Given the description of an element on the screen output the (x, y) to click on. 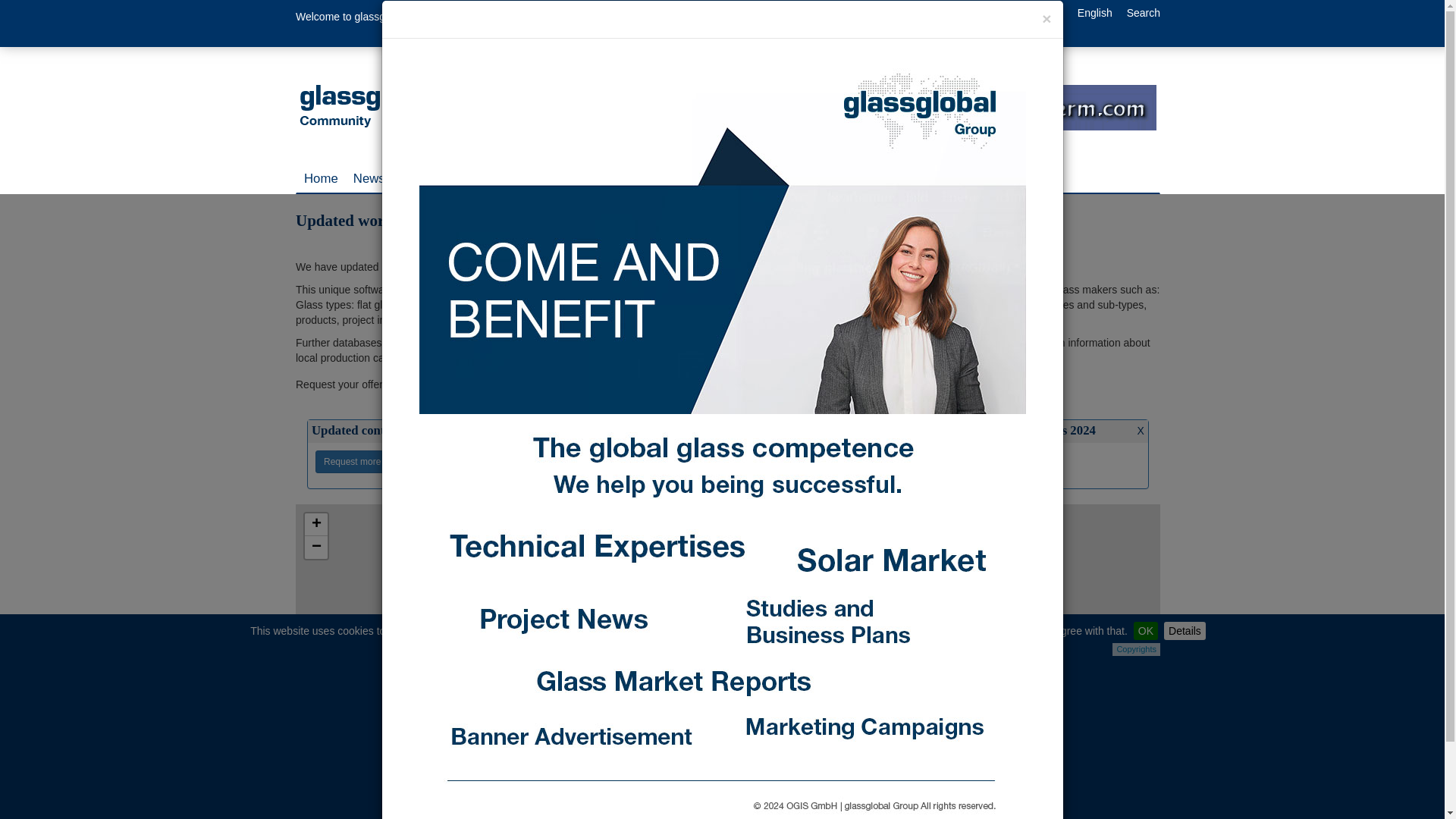
Technology (432, 178)
Search (1143, 12)
English (1094, 12)
Projects (502, 178)
YouTube (495, 22)
LinkedIn (436, 22)
Login (996, 12)
Zoom out (315, 547)
Zoom in (315, 524)
Home (321, 178)
